Given the description of an element on the screen output the (x, y) to click on. 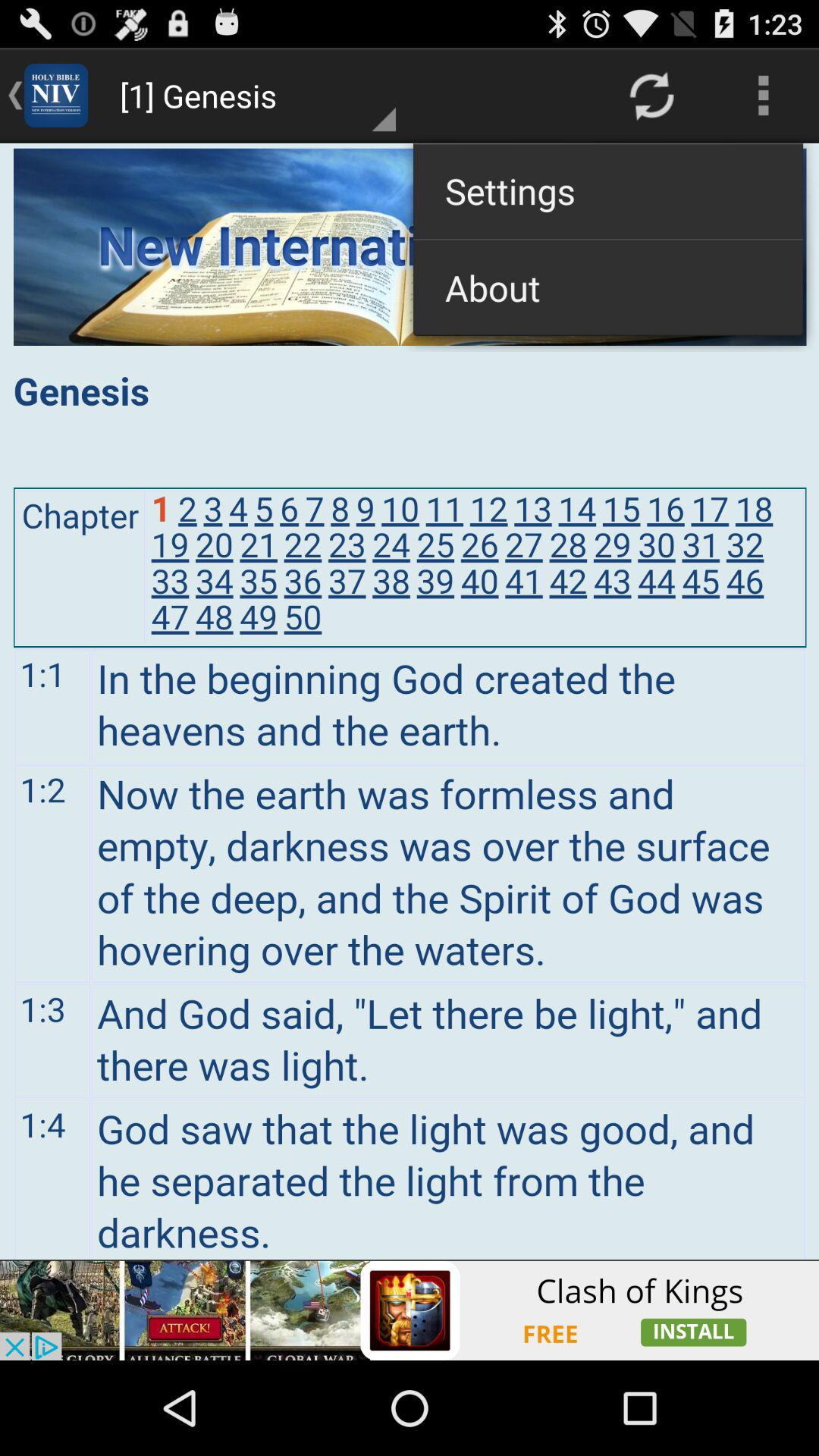
click on the three doted icon (763, 95)
